Given the description of an element on the screen output the (x, y) to click on. 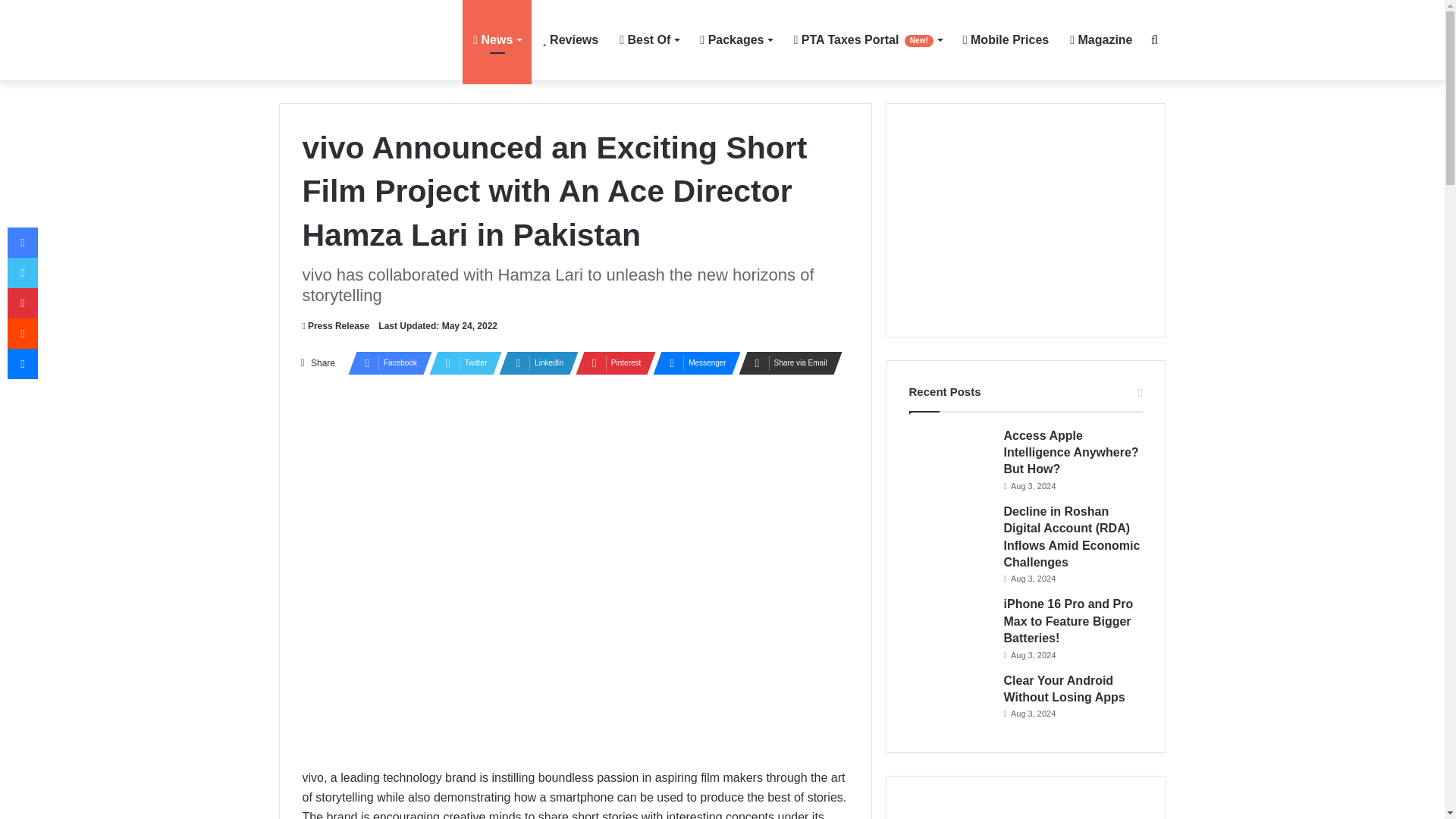
Reviews (569, 40)
LinkedIn (534, 363)
Twitter (461, 363)
Packages (735, 40)
Magazine (1100, 40)
Messenger (692, 363)
Press Release (335, 326)
Pinterest (610, 363)
PTA Taxes Portal New! (867, 40)
Share via Email (785, 363)
Best Of (648, 40)
Facebook (385, 363)
Mobile Prices (1005, 40)
